Given the description of an element on the screen output the (x, y) to click on. 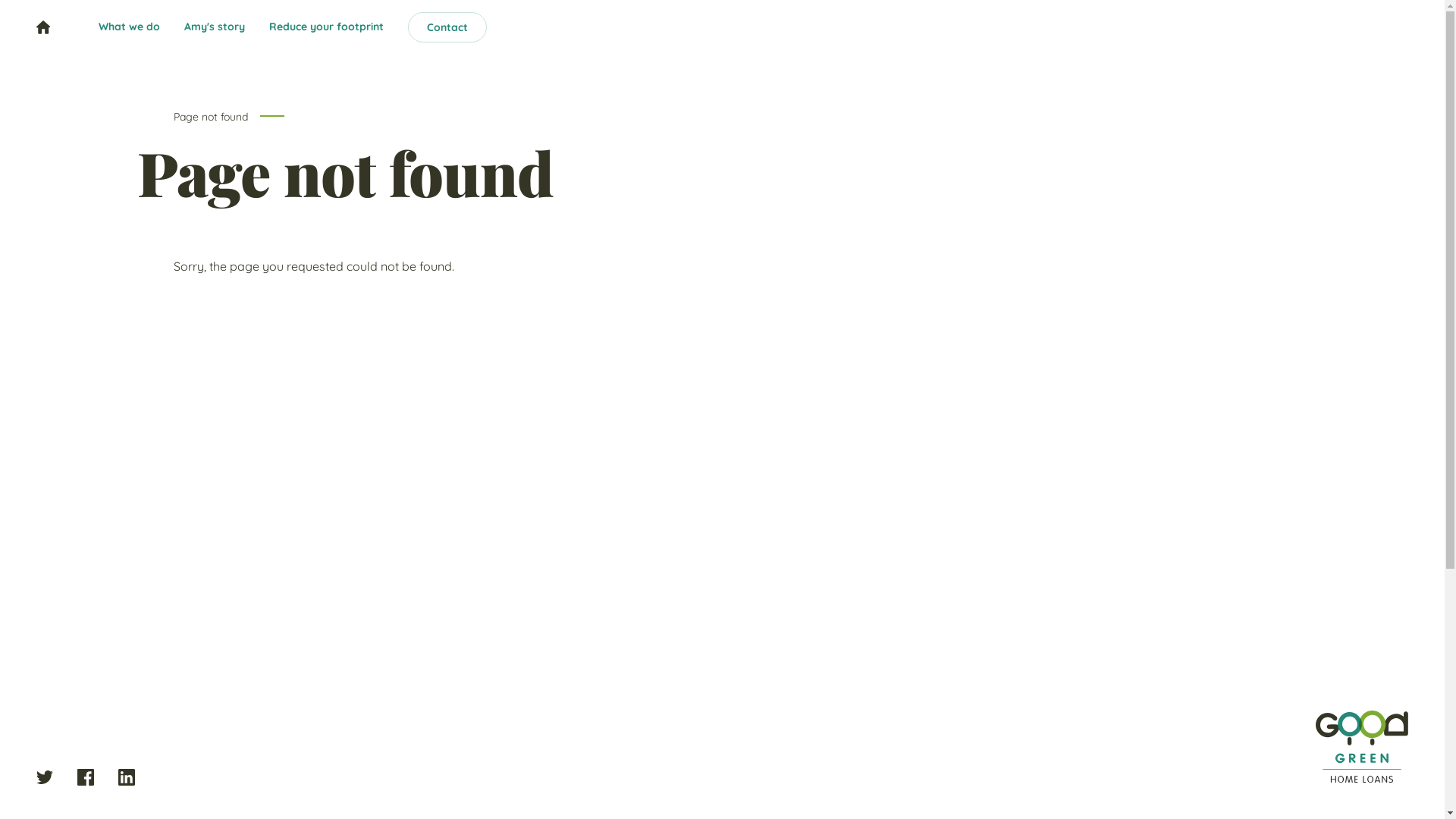
What we do Element type: text (129, 27)
Good Green Home Loans Element type: text (1361, 746)
Good Green Home Loans on Facebook Element type: hover (85, 776)
Good Green Home Loans on Twitter Element type: hover (44, 776)
Good Green Home Loans on LinkedIn Element type: hover (126, 776)
Amy's story Element type: text (214, 27)
Reduce your footprint Element type: text (326, 27)
Contact Element type: text (446, 27)
